Given the description of an element on the screen output the (x, y) to click on. 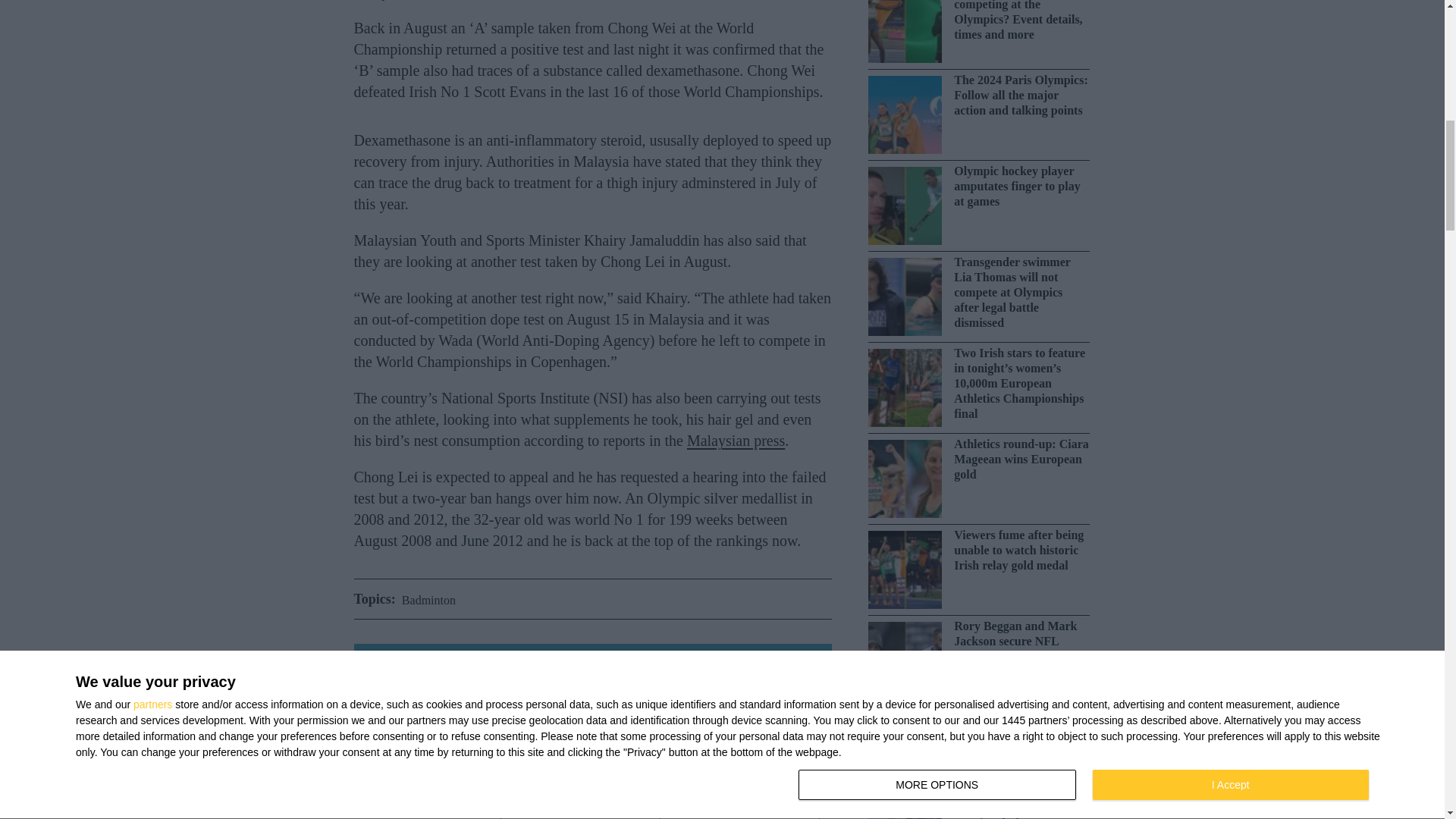
Michael Corry (580, 812)
SportsJOE (420, 812)
